Given the description of an element on the screen output the (x, y) to click on. 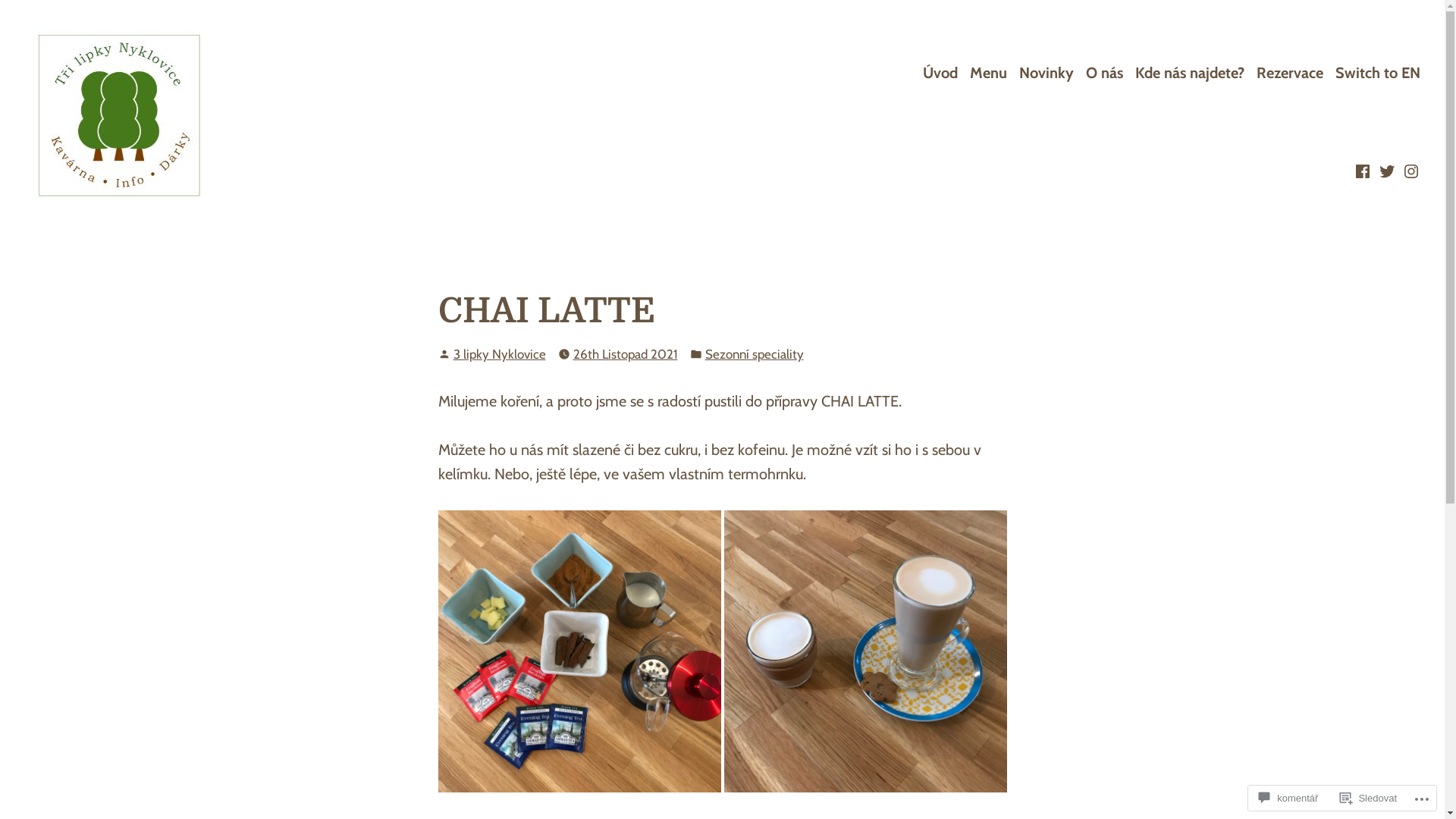
26th Listopad 2021 Element type: text (625, 354)
Rezervace Element type: text (1289, 72)
Switch to EN Element type: text (1377, 72)
Menu Element type: text (988, 72)
Novinky Element type: text (1046, 72)
3 lipky Nyklovice Element type: text (499, 353)
Sledovat Element type: text (1367, 797)
